Given the description of an element on the screen output the (x, y) to click on. 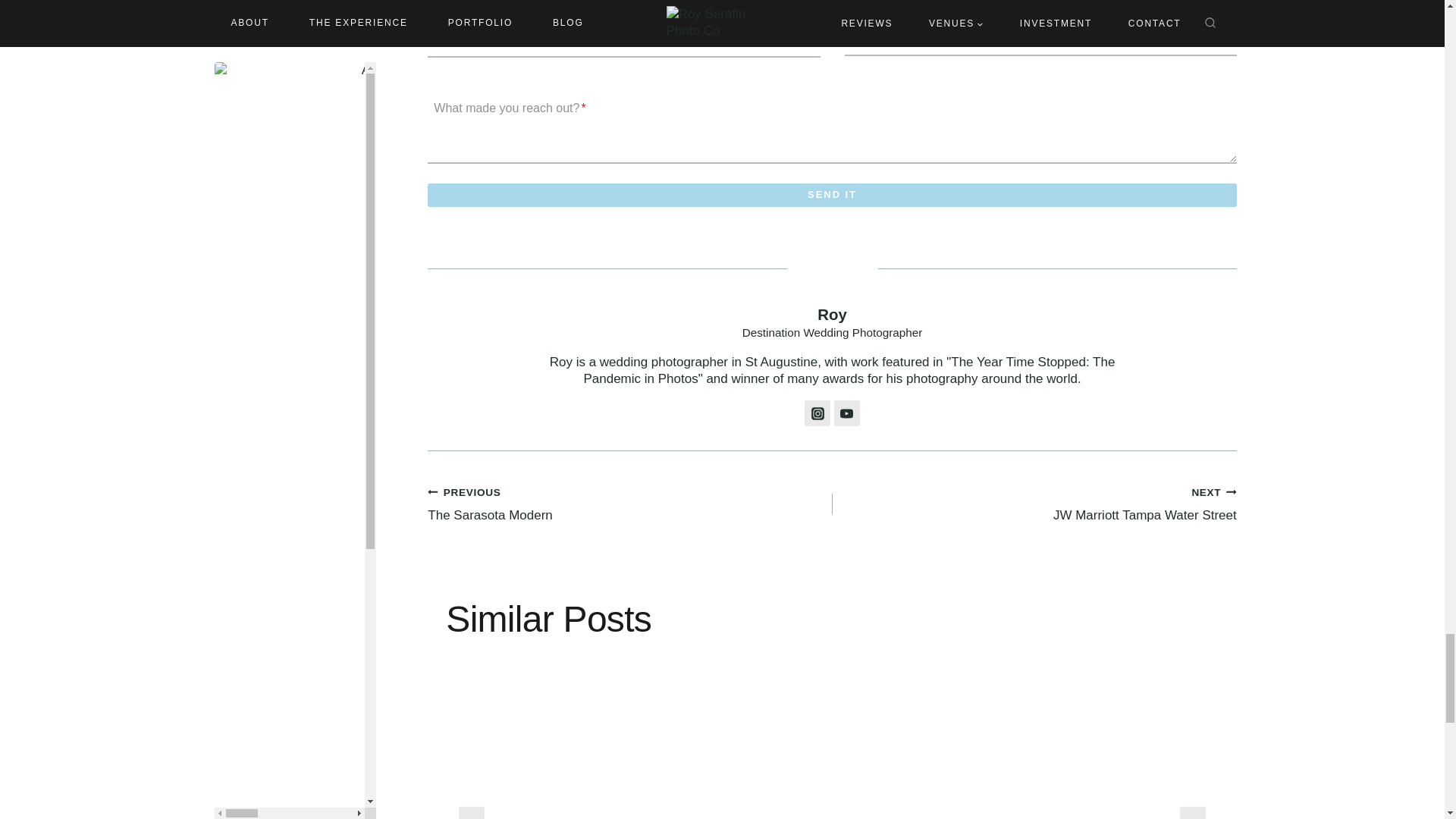
Posts by Roy (831, 314)
Follow Roy on Instagram (817, 412)
Follow Roy on Youtube (847, 412)
